Given the description of an element on the screen output the (x, y) to click on. 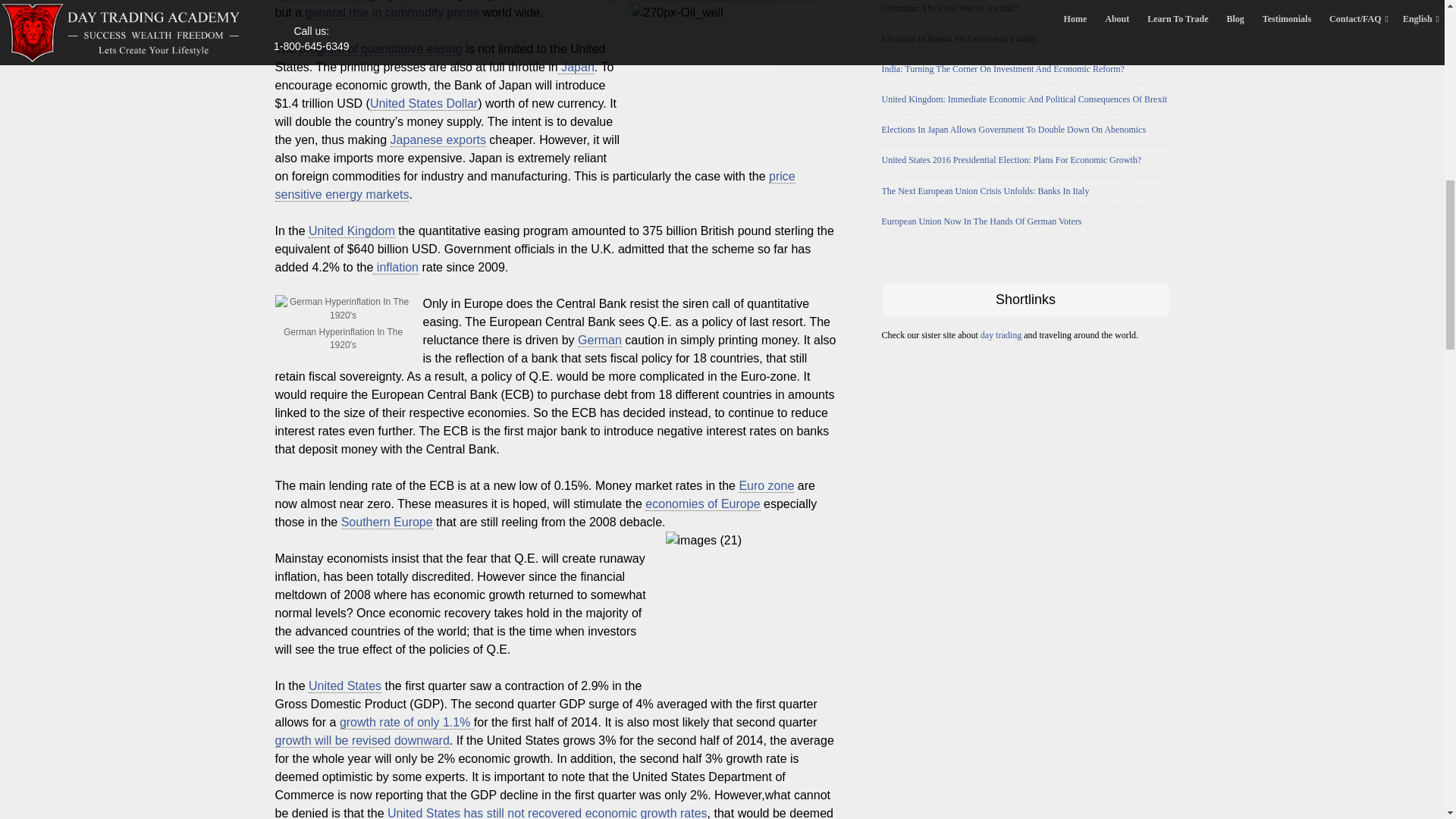
Time For Investors To Short The Japanese Stock Market? (438, 140)
The Decline of the United States Dollar (423, 103)
German (599, 340)
Southern Europe (386, 522)
price sensitive energy markets (534, 185)
Japanese exports (438, 140)
program of quantitative easing (381, 49)
inflation (395, 267)
Euro zone (765, 486)
quantitative easing (325, 0)
economies of Europe (702, 504)
United States Dollar (423, 103)
